Given the description of an element on the screen output the (x, y) to click on. 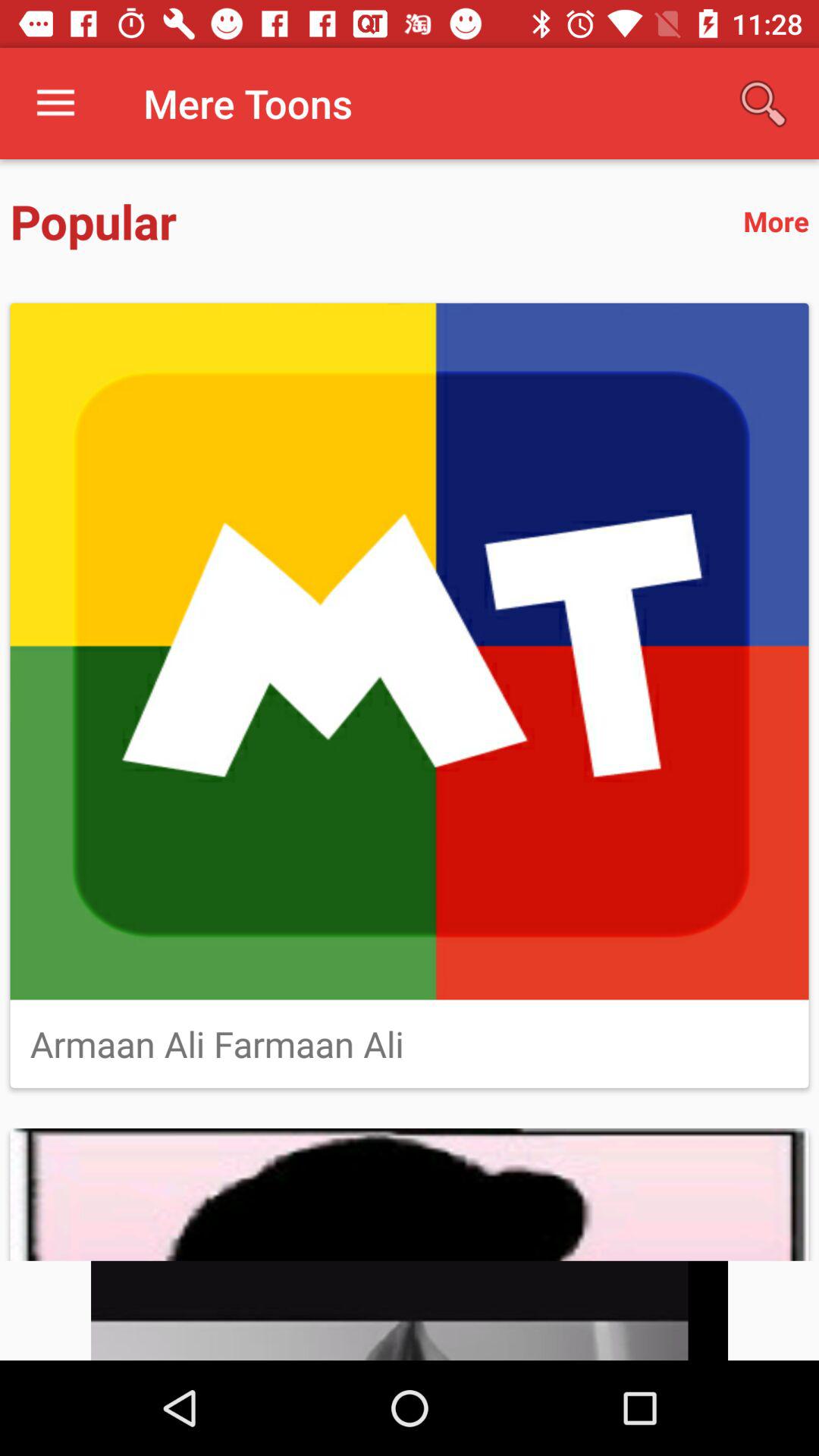
flip to the more (775, 221)
